Given the description of an element on the screen output the (x, y) to click on. 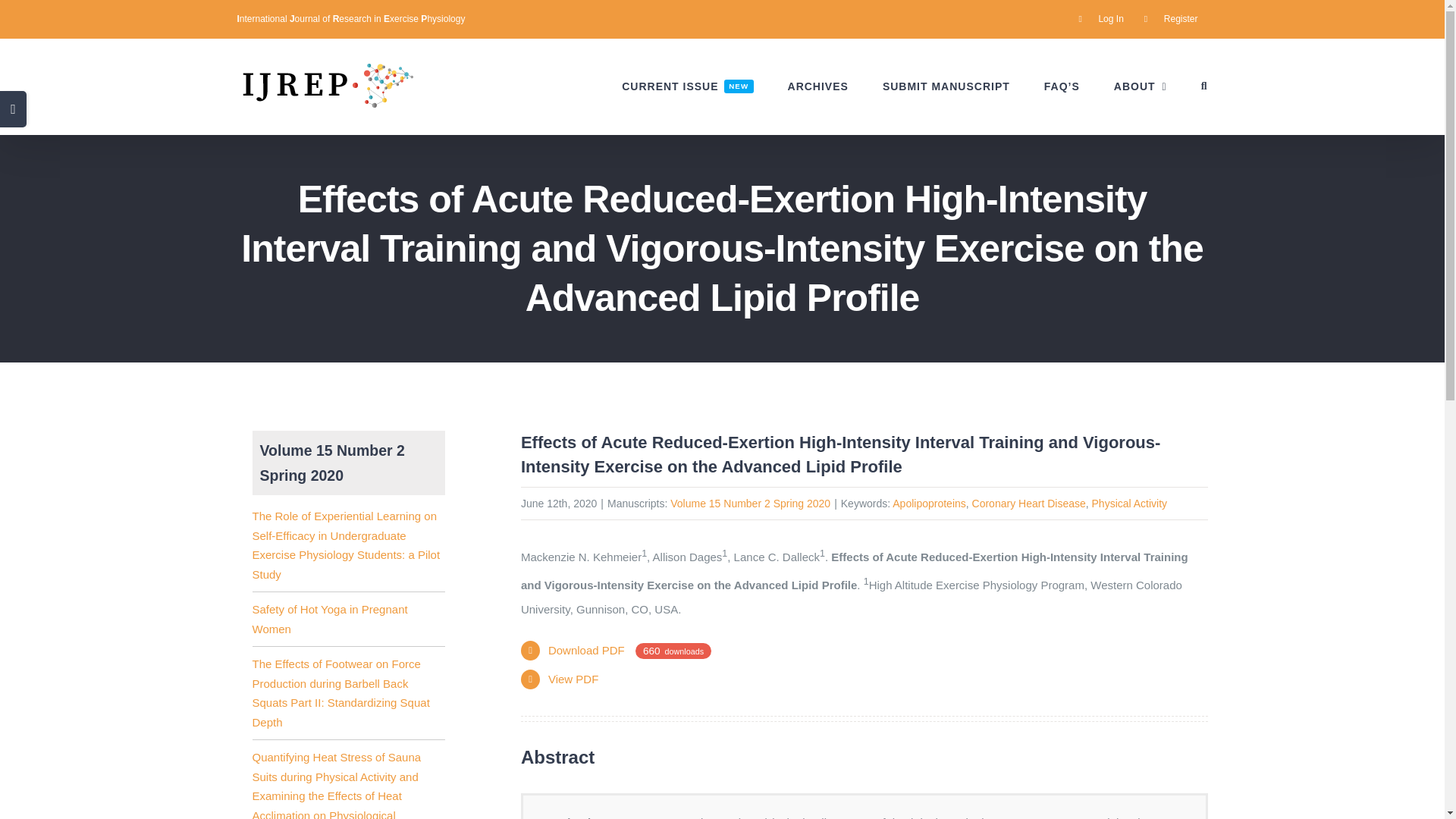
Physical Activity (1129, 503)
SUBMIT MANUSCRIPT (946, 86)
Apolipoproteins (929, 503)
CURRENT ISSUE (686, 86)
Download PDF 660 (629, 649)
Volume 15 Number 2 Spring 2020 (749, 503)
Safety of Hot Yoga in Pregnant Women (329, 618)
